Given the description of an element on the screen output the (x, y) to click on. 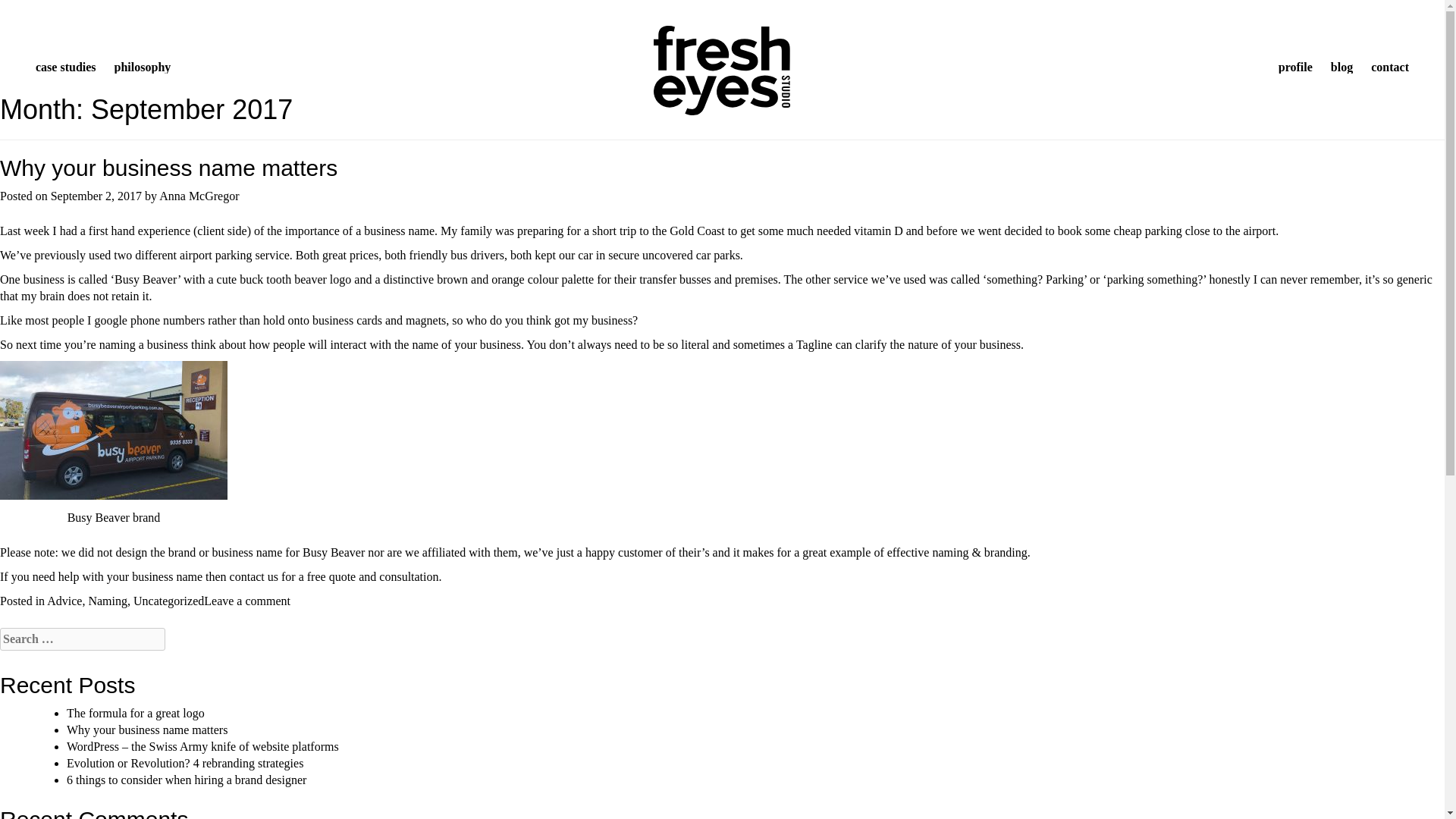
case studies (65, 67)
contact us (254, 576)
Why your business name matters (146, 729)
Uncategorized (168, 600)
6 things to consider when hiring a brand designer (185, 779)
philosophy (143, 67)
Anna McGregor (198, 195)
Evolution or Revolution? 4 rebranding strategies (184, 762)
Advice (63, 600)
profile (1295, 67)
case studies (65, 67)
Leave a comment (246, 600)
September 2, 2017 (95, 195)
Search (13, 6)
blog (1341, 67)
